Given the description of an element on the screen output the (x, y) to click on. 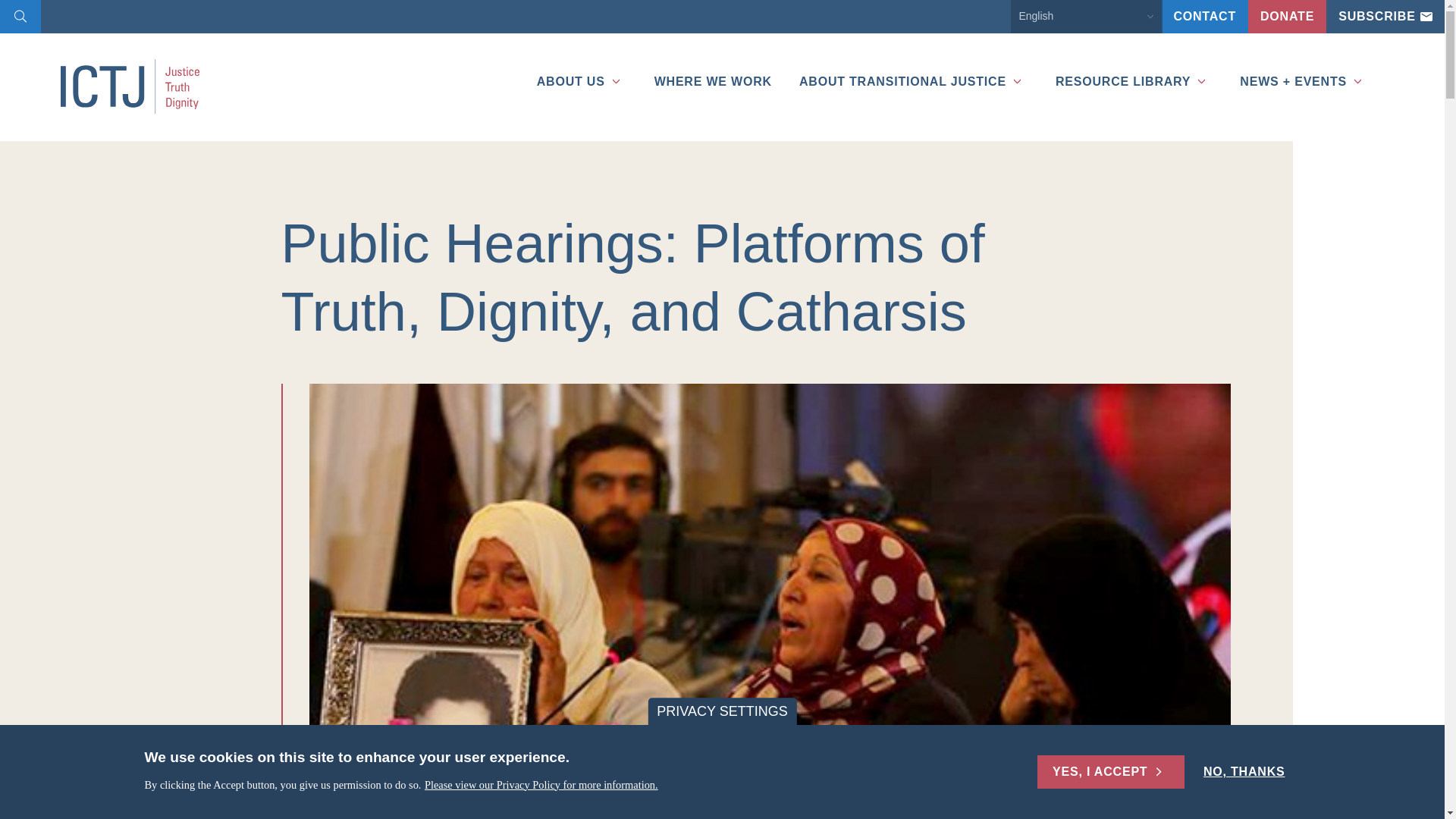
RESOURCE LIBRARY (1127, 62)
Search (20, 18)
DONATE (1286, 16)
Home (140, 85)
NO, THANKS (1244, 771)
PRIVACY SETTINGS (721, 711)
WHERE WE WORK (706, 62)
ABOUT US (575, 62)
ABOUT TRANSITIONAL JUSTICE (906, 62)
Please view our Privacy Policy for more information. (541, 784)
CONTACT (1203, 16)
YES, I ACCEPT (1110, 771)
Skip to main content (3, 3)
